Given the description of an element on the screen output the (x, y) to click on. 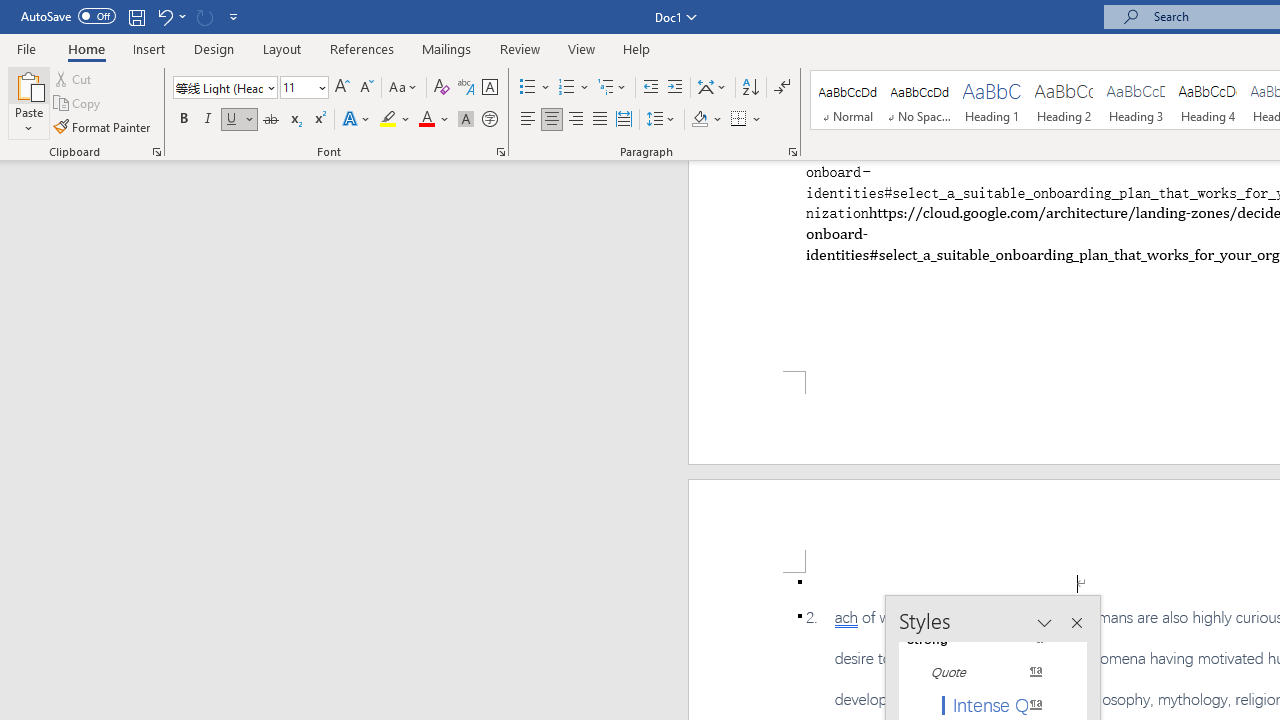
Undo Paste (170, 15)
